Given the description of an element on the screen output the (x, y) to click on. 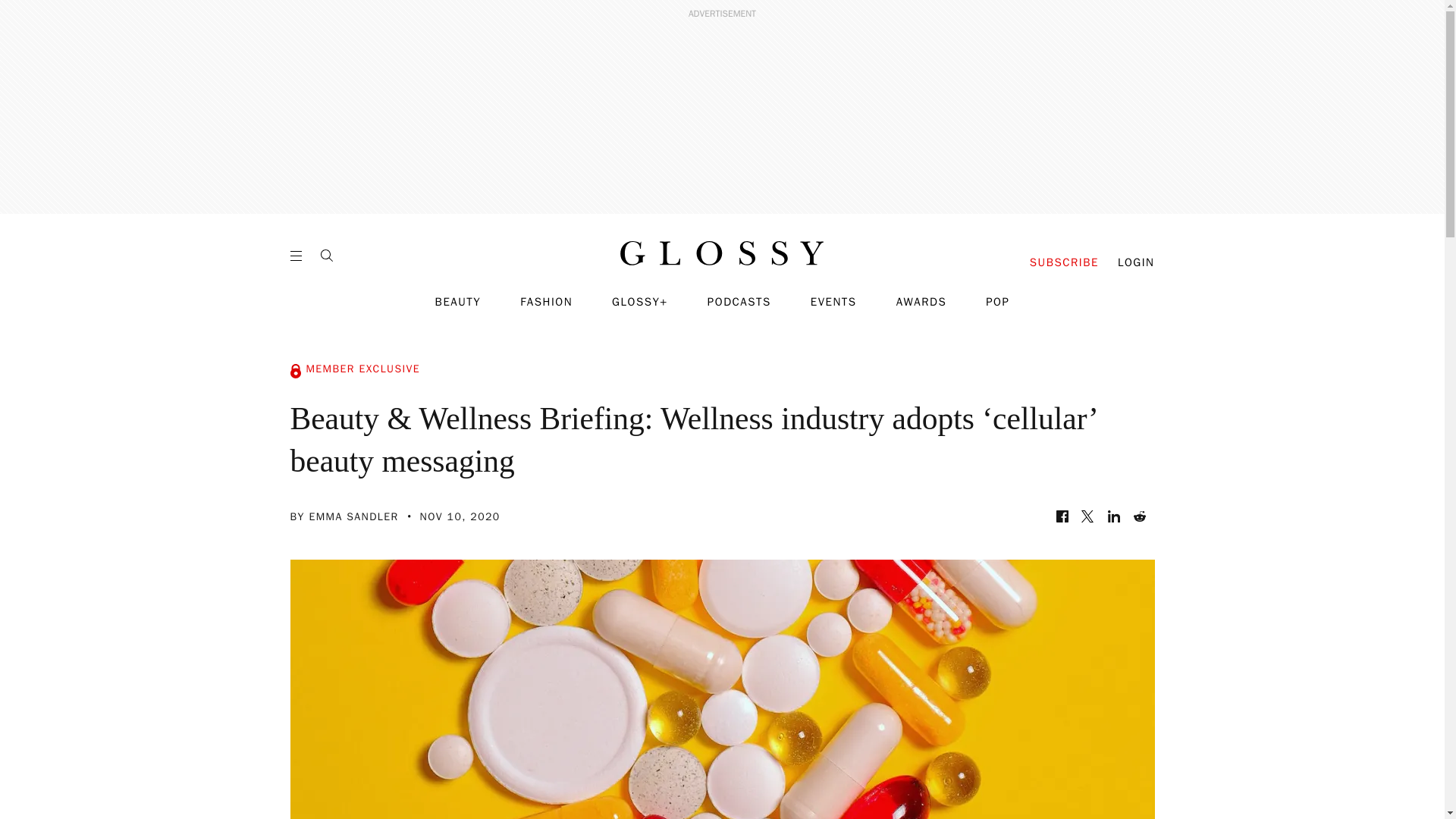
FASHION (545, 301)
BEAUTY (458, 301)
EVENTS (833, 301)
PODCASTS (739, 301)
AWARDS (921, 301)
POP (997, 301)
SUBSCRIBE (1064, 262)
LOGIN (1136, 262)
